Given the description of an element on the screen output the (x, y) to click on. 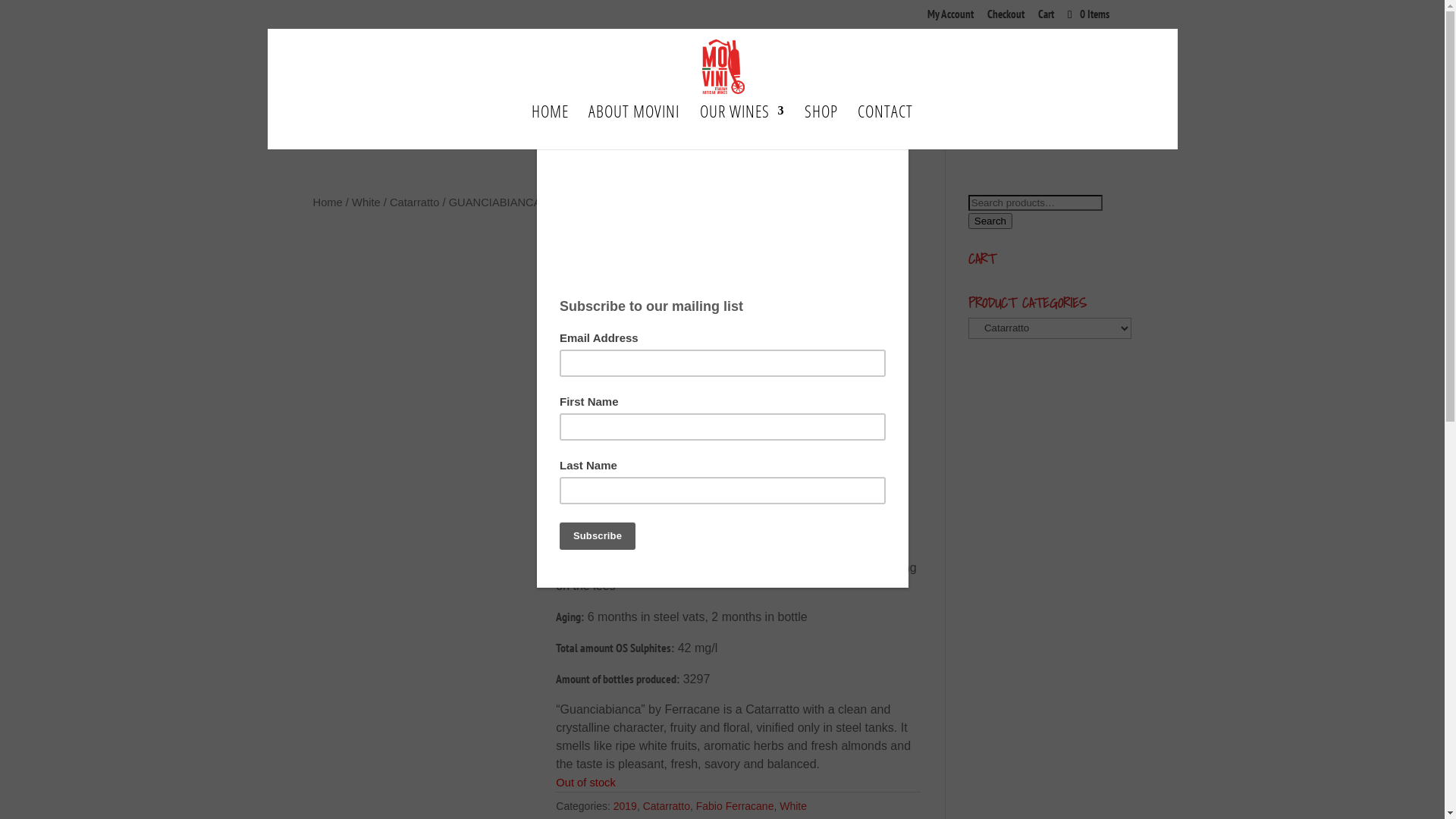
2019 Element type: text (625, 806)
Search Element type: text (990, 220)
Catarratto Element type: text (414, 201)
White Element type: text (365, 201)
Checkout Element type: text (1005, 18)
Catarratto Element type: text (666, 806)
Cart Element type: text (1046, 18)
Fabio Ferracane Element type: text (735, 806)
CONTACT Element type: text (885, 126)
0 Items Element type: text (1086, 13)
White Element type: text (792, 806)
My Account Element type: text (950, 18)
HOME Element type: text (549, 126)
OUR WINES Element type: text (741, 126)
Home Element type: text (327, 201)
ABOUT MOVINI Element type: text (633, 126)
SHOP Element type: text (820, 126)
